Given the description of an element on the screen output the (x, y) to click on. 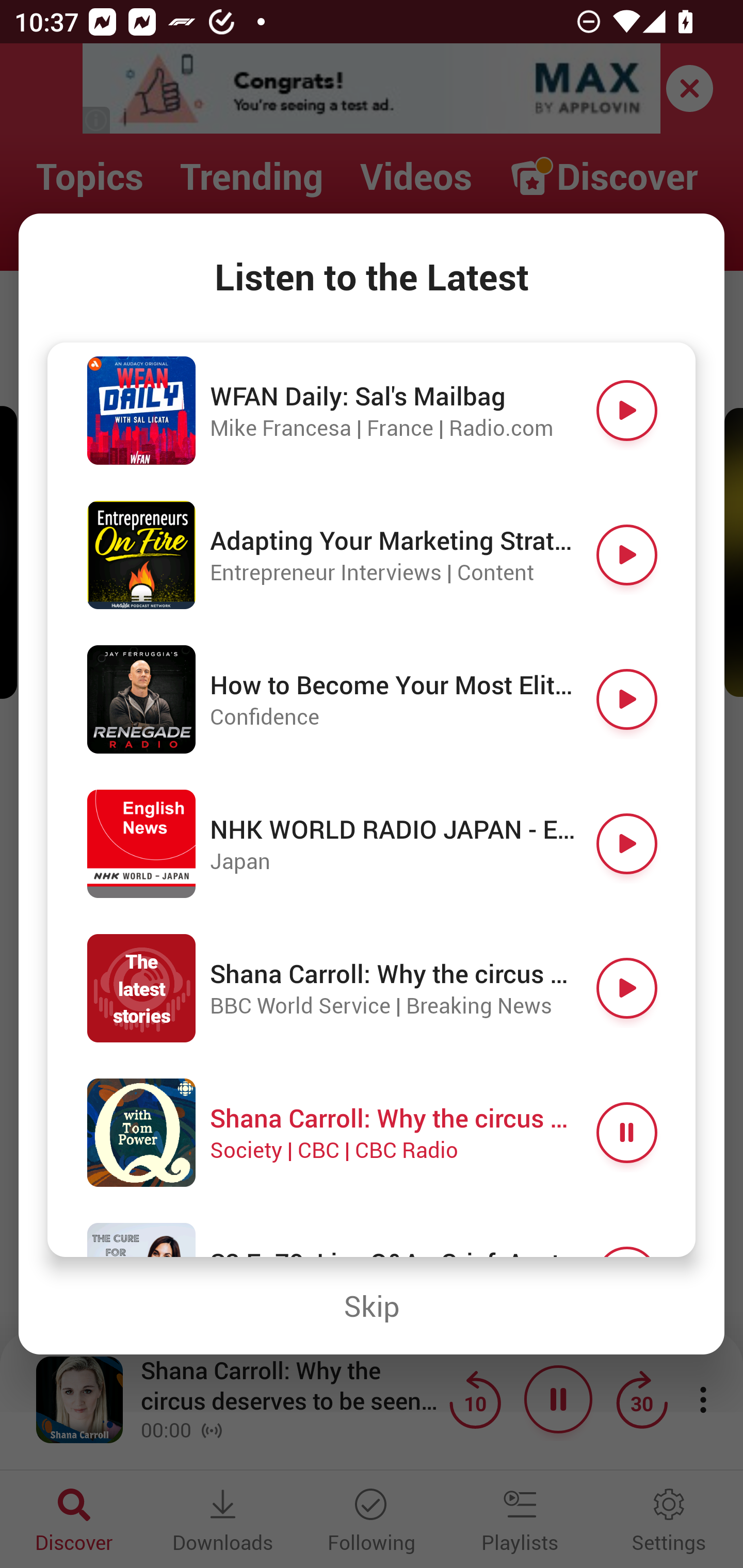
Skip (371, 1305)
